Given the description of an element on the screen output the (x, y) to click on. 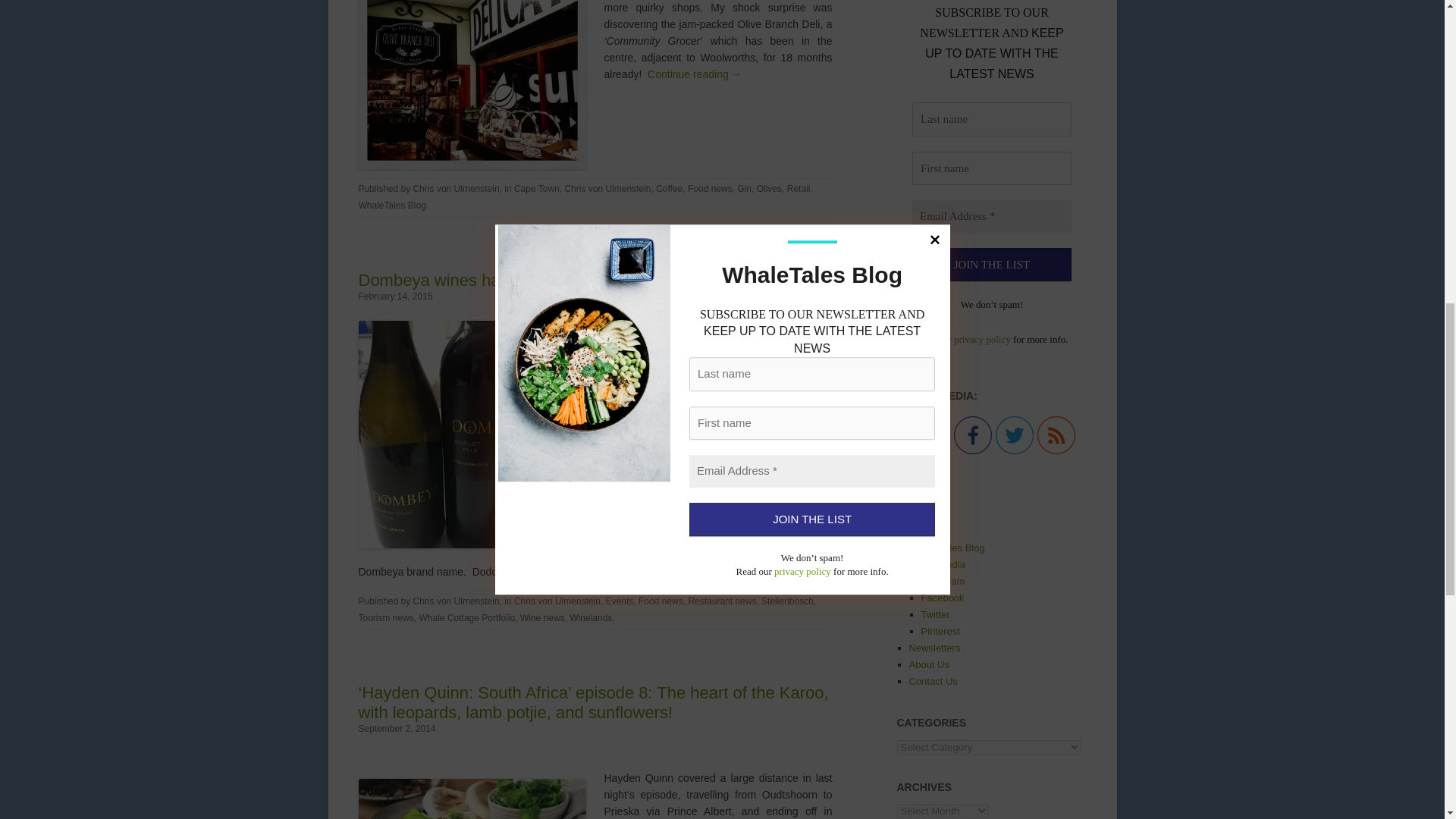
Coffee (669, 188)
View all posts by Chris von Ulmenstein (456, 601)
Olives (769, 188)
JOIN THE LIST (990, 264)
Gin (743, 188)
Food news (709, 188)
8:00 am (395, 296)
Cape Town (536, 188)
Chris von Ulmenstein (607, 188)
Chris von Ulmenstein (456, 188)
View all posts by Chris von Ulmenstein (456, 188)
